Given the description of an element on the screen output the (x, y) to click on. 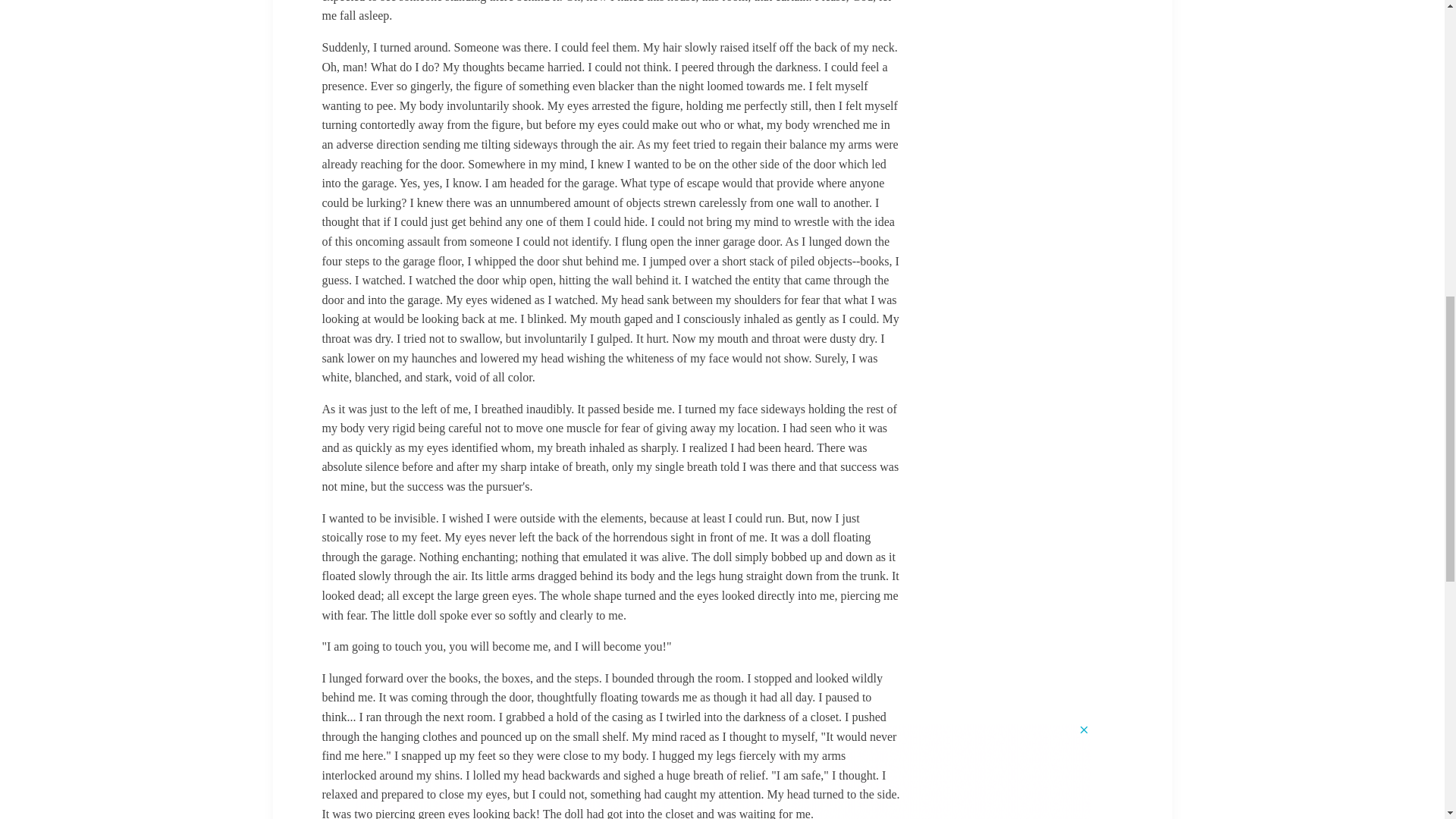
3rd party ad content (722, 47)
